Given the description of an element on the screen output the (x, y) to click on. 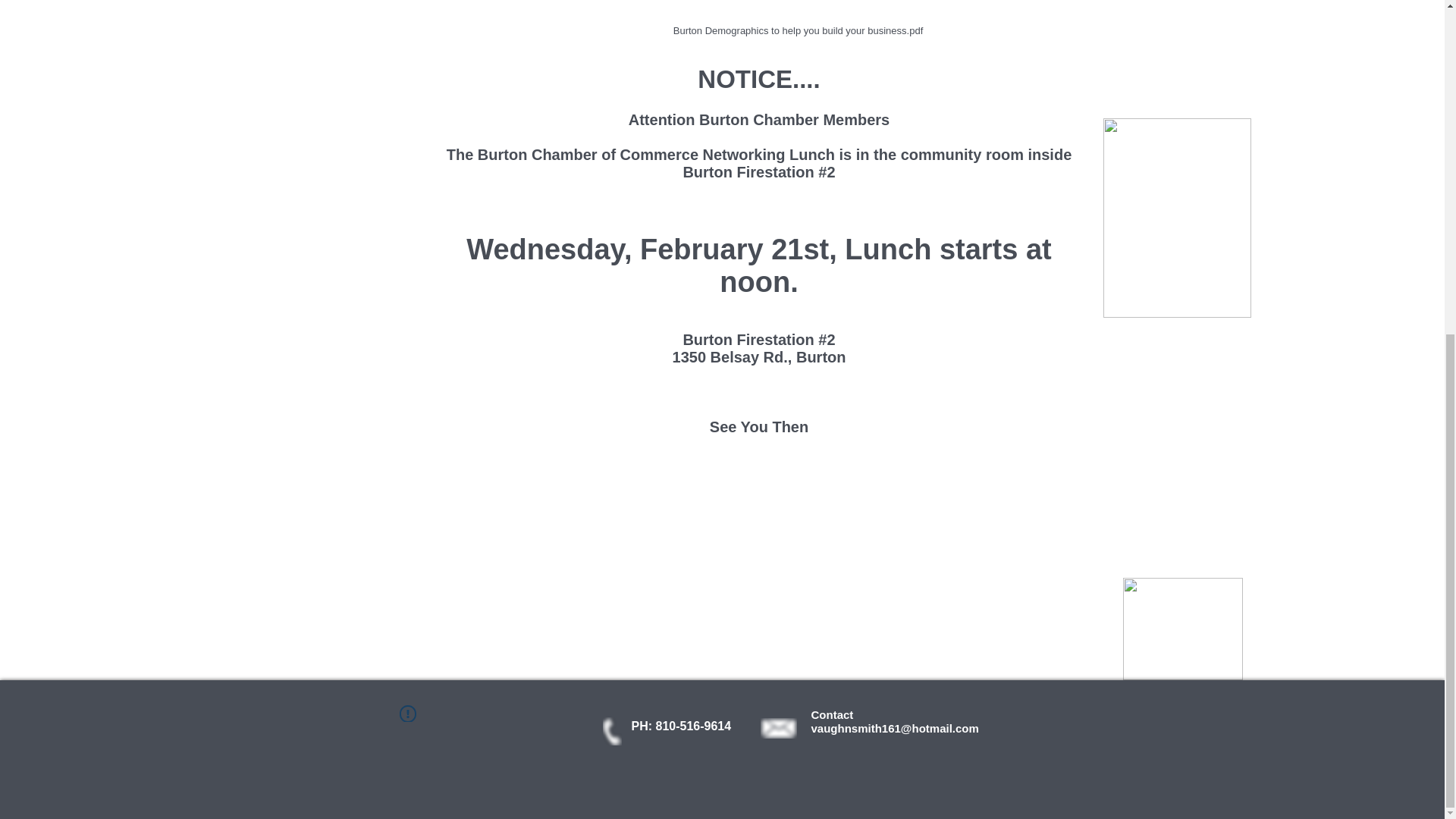
Burton Demographics to help you build your business.pdf (797, 20)
Burton Demographics to help you build your business.pdf (797, 20)
